Given the description of an element on the screen output the (x, y) to click on. 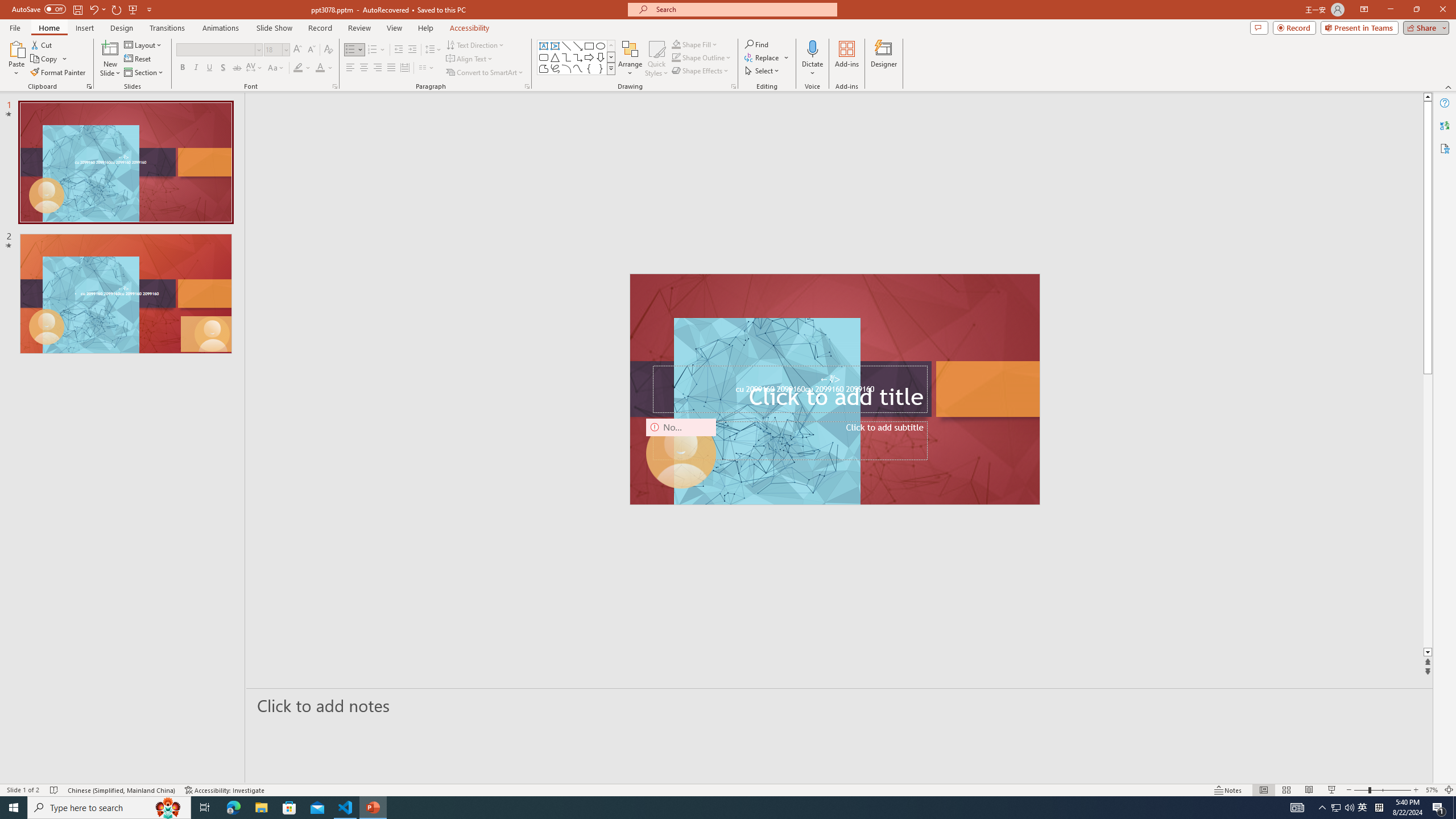
Convert to SmartArt (485, 72)
Align Text (470, 58)
Shape Fill Dark Green, Accent 2 (675, 44)
Title TextBox (789, 389)
Freeform: Scribble (554, 68)
Change Case (276, 67)
